Given the description of an element on the screen output the (x, y) to click on. 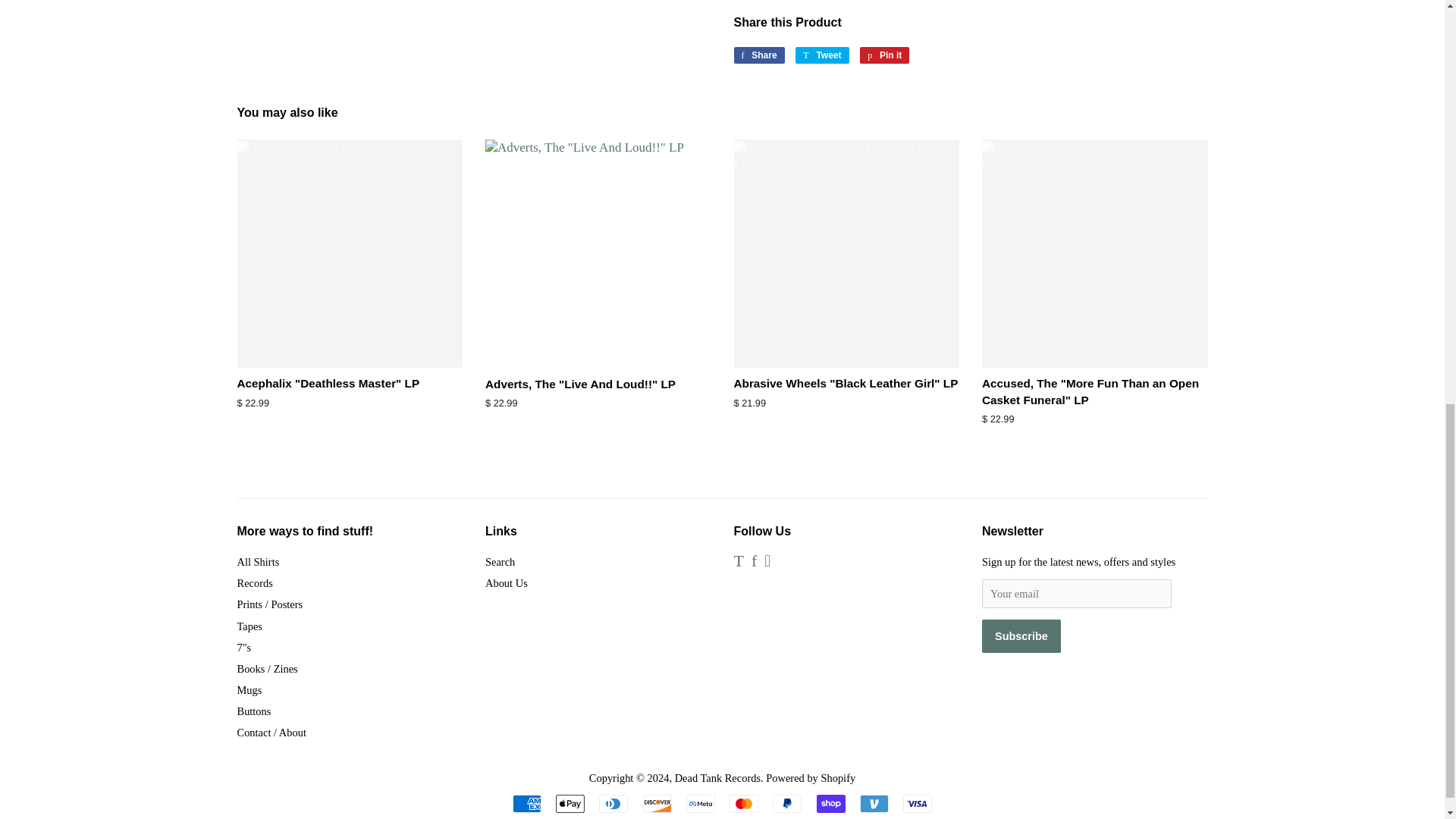
Diners Club (612, 803)
PayPal (787, 803)
Tweet on Twitter (821, 54)
All Shirts (257, 562)
Visa (884, 54)
Shop Pay (916, 803)
Mastercard (830, 803)
Subscribe (743, 803)
